Given the description of an element on the screen output the (x, y) to click on. 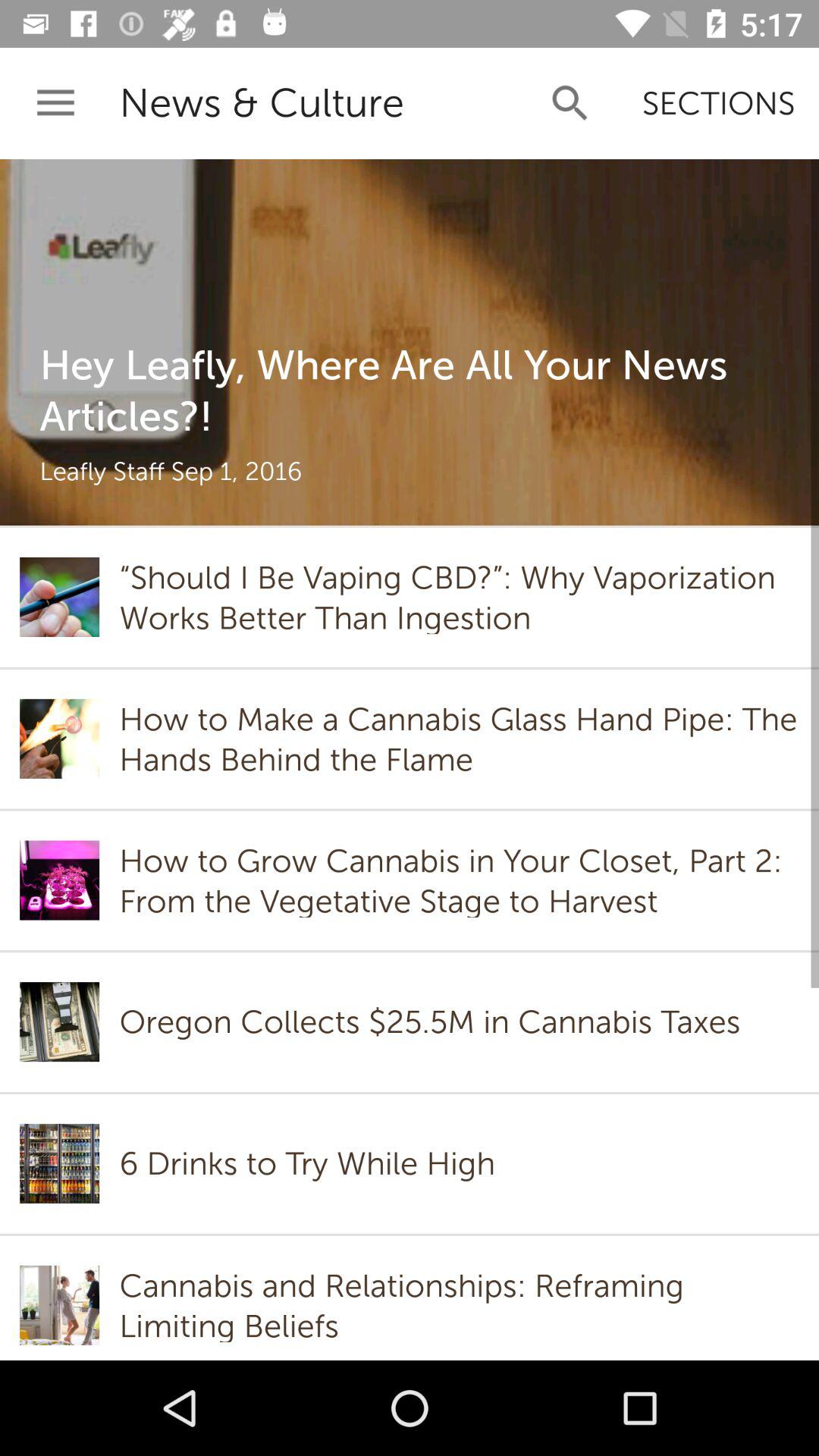
select sections (718, 103)
